Given the description of an element on the screen output the (x, y) to click on. 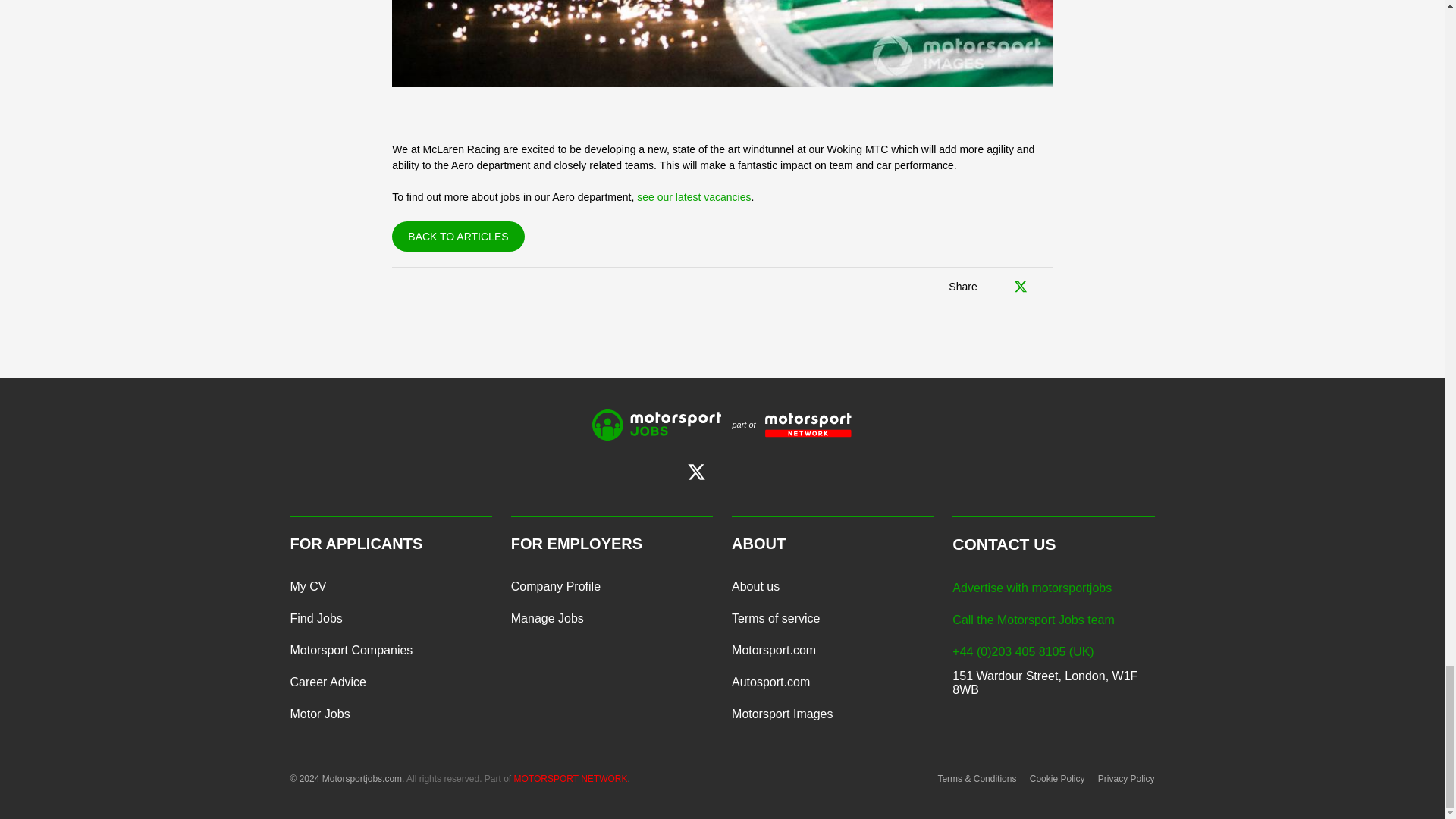
BACK TO ARTICLES (457, 236)
part of (785, 424)
Motor Jobs (319, 714)
About us (755, 586)
Motorsportjobs.com (656, 424)
see our latest vacancies (694, 196)
Motorsport Companies (350, 650)
My CV (307, 586)
Career Advice (327, 682)
Company Profile (555, 586)
Find Jobs (315, 618)
Manage Jobs (547, 618)
